Given the description of an element on the screen output the (x, y) to click on. 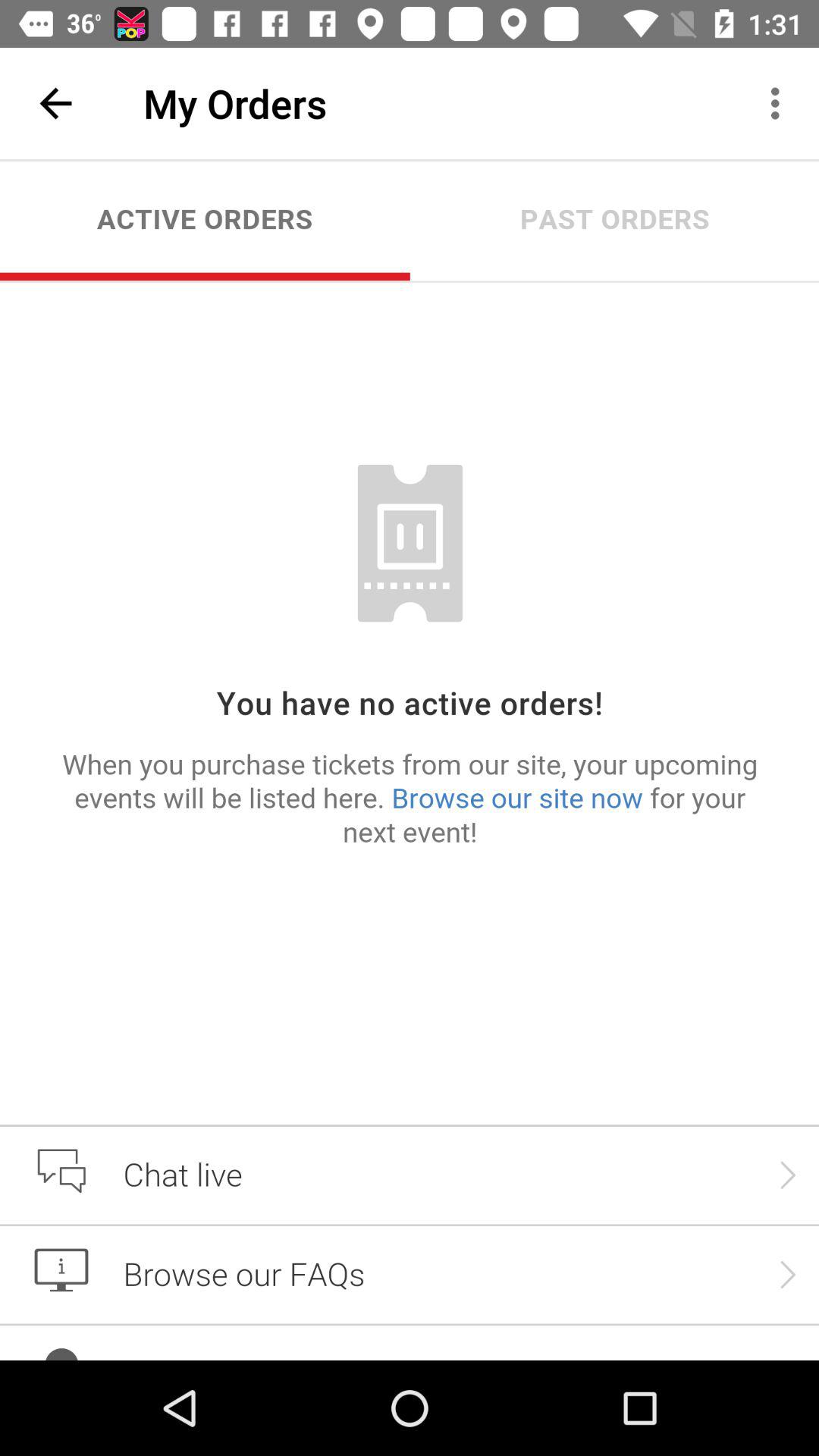
my orders page (409, 759)
